Given the description of an element on the screen output the (x, y) to click on. 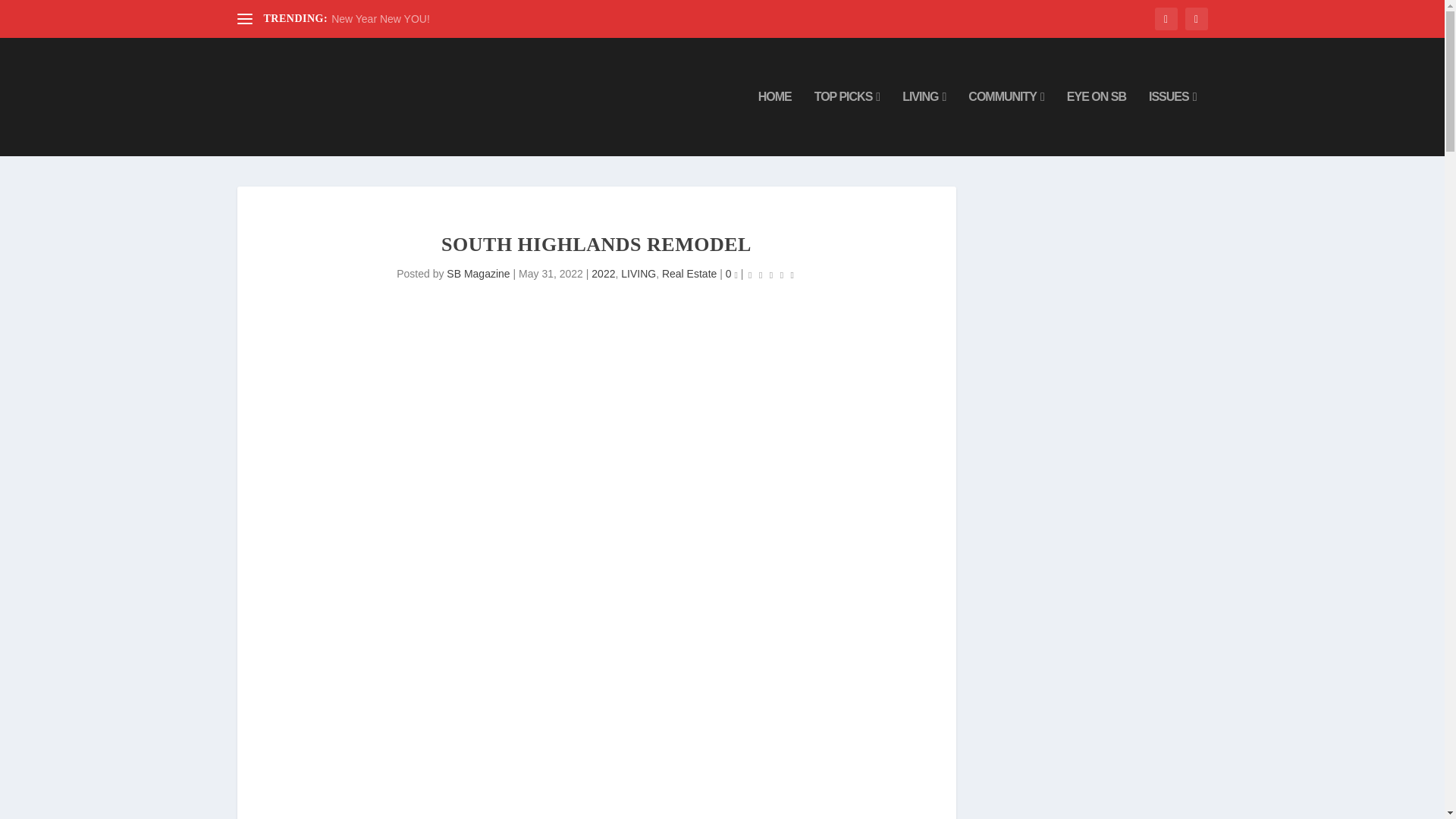
Rating: 0.00 (770, 274)
COMMUNITY (1005, 123)
EYE ON SB (1096, 123)
Posts by SB Magazine (477, 273)
TOP PICKS (846, 123)
New Year New YOU! (380, 19)
